Given the description of an element on the screen output the (x, y) to click on. 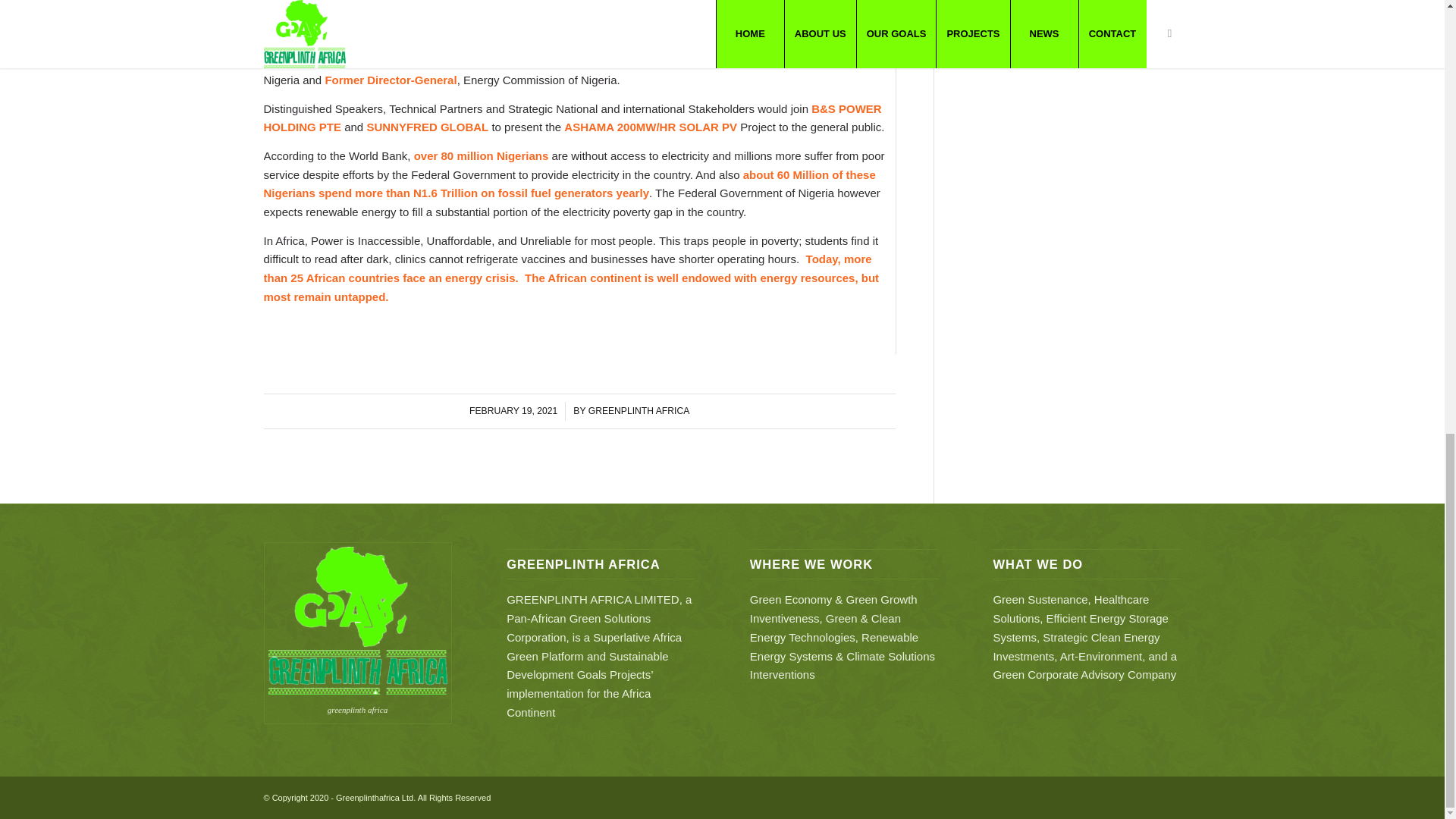
GREENPLINTH AFRICA (639, 410)
Posts by Greenplinth Africa (639, 410)
